Given the description of an element on the screen output the (x, y) to click on. 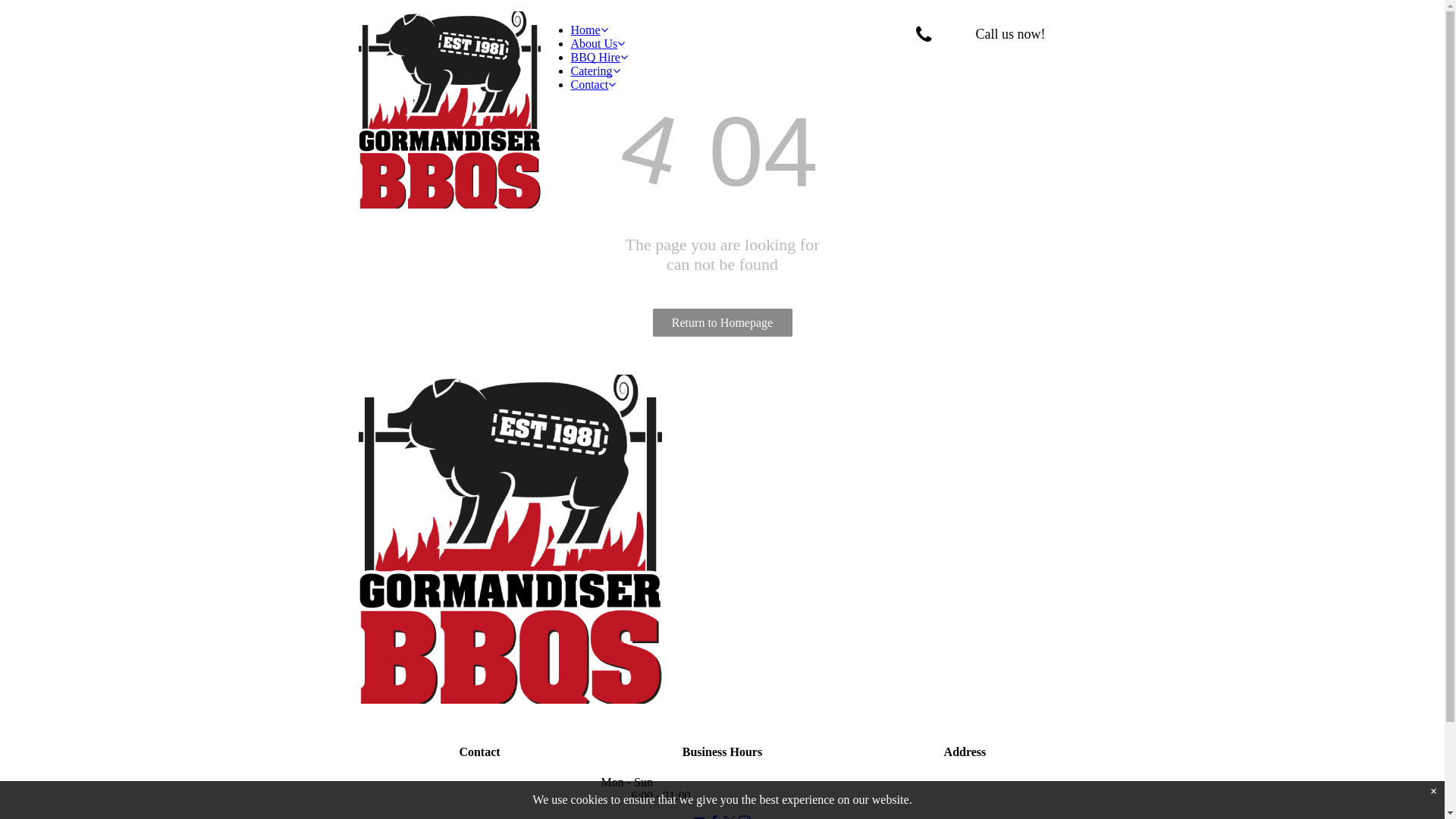
mail@gormandiserbbqs.com.au Element type: text (478, 807)
Home Element type: text (588, 29)
BBQ Hire Element type: text (598, 56)
Contact Element type: text (592, 84)
About Us Element type: text (597, 43)
0418 826 650 Element type: text (478, 781)
Catering Element type: text (594, 70)
Return to Homepage Element type: text (721, 322)
Call us now! Element type: text (994, 34)
